Given the description of an element on the screen output the (x, y) to click on. 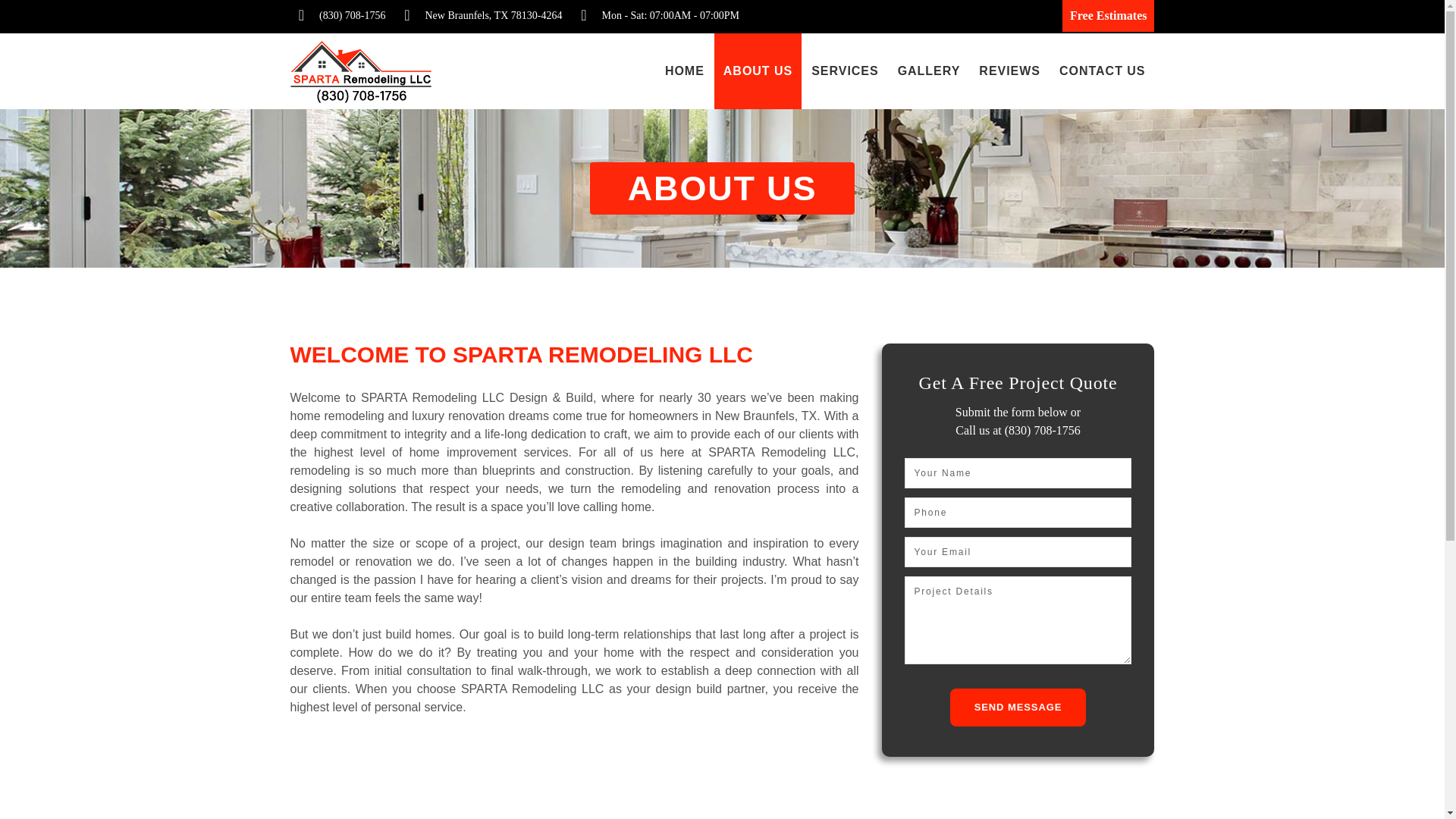
GALLERY (928, 70)
CONTACT US (1101, 70)
SERVICES (844, 70)
ABOUT US (758, 70)
SEND MESSAGE (1018, 707)
Free Estimates (1108, 15)
REVIEWS (1009, 70)
New Braunfels, TX 78130-4264 (493, 15)
